Given the description of an element on the screen output the (x, y) to click on. 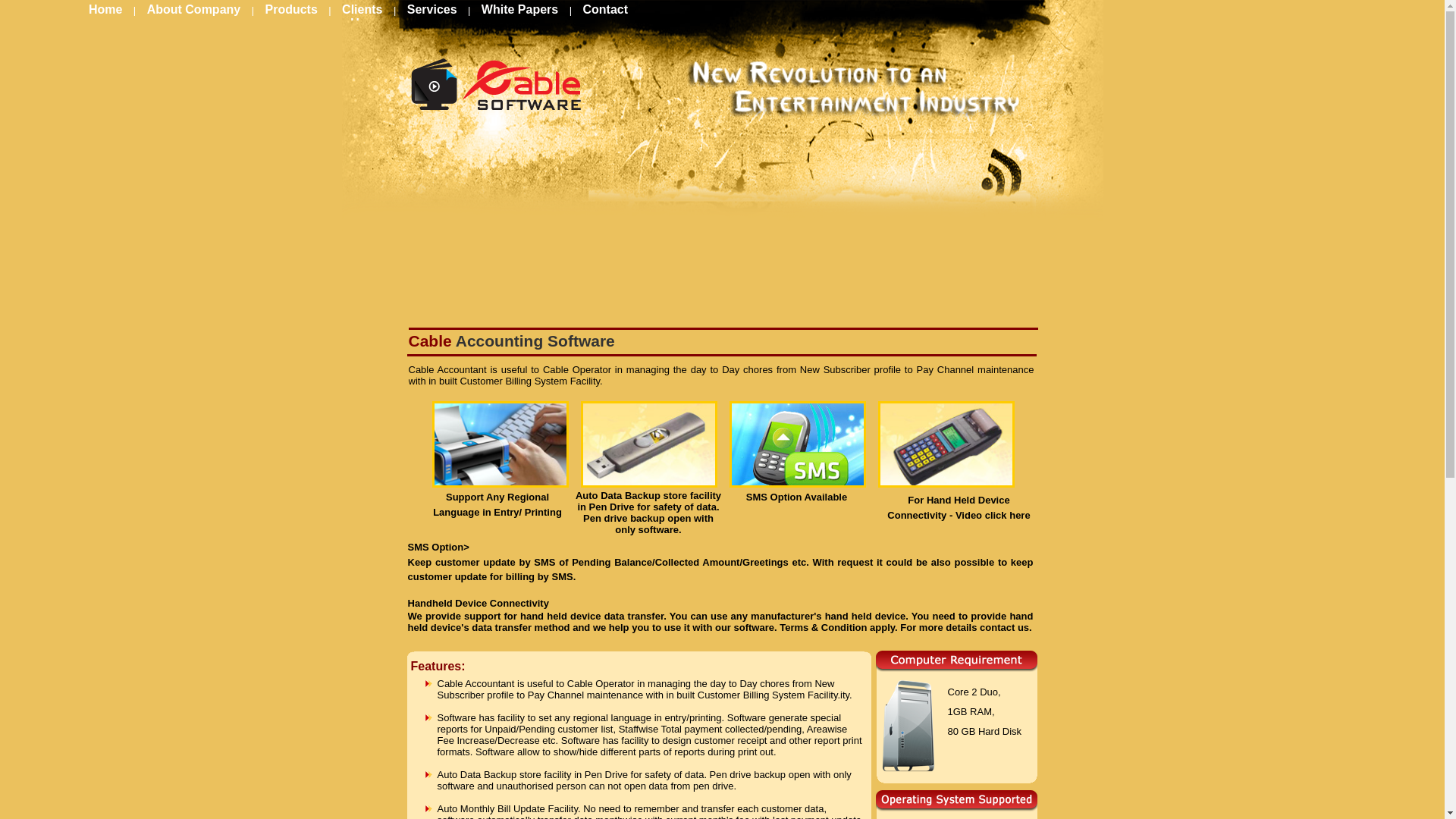
Services (432, 9)
Clients (361, 9)
Services (432, 9)
Contact Us (488, 16)
White Papers (519, 9)
Hand Held Device Connectivity - Video click here (957, 507)
Products (290, 9)
About Company (194, 9)
Clients (361, 9)
White Papers (519, 9)
